Given the description of an element on the screen output the (x, y) to click on. 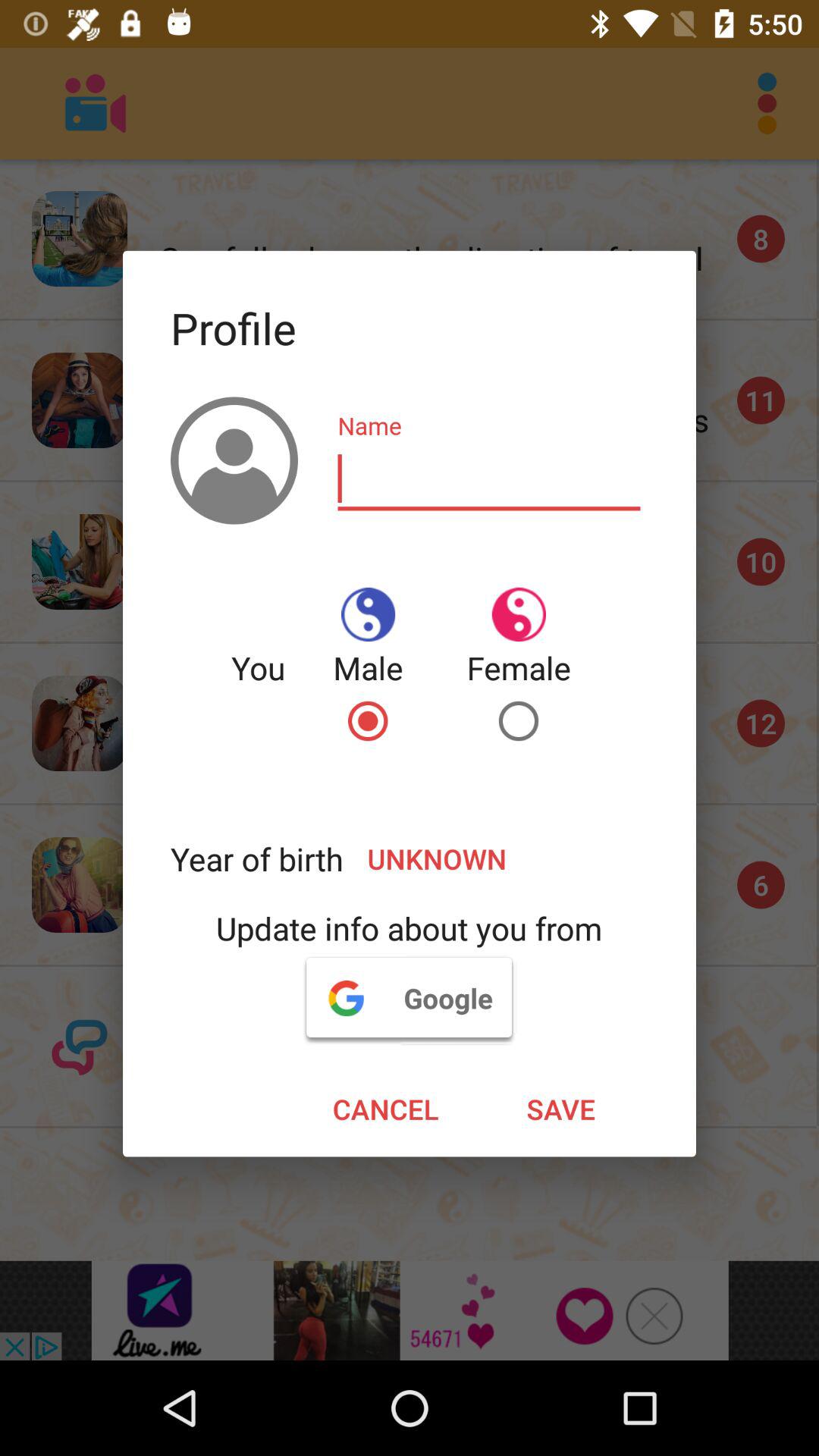
click the item below profile icon (488, 479)
